Given the description of an element on the screen output the (x, y) to click on. 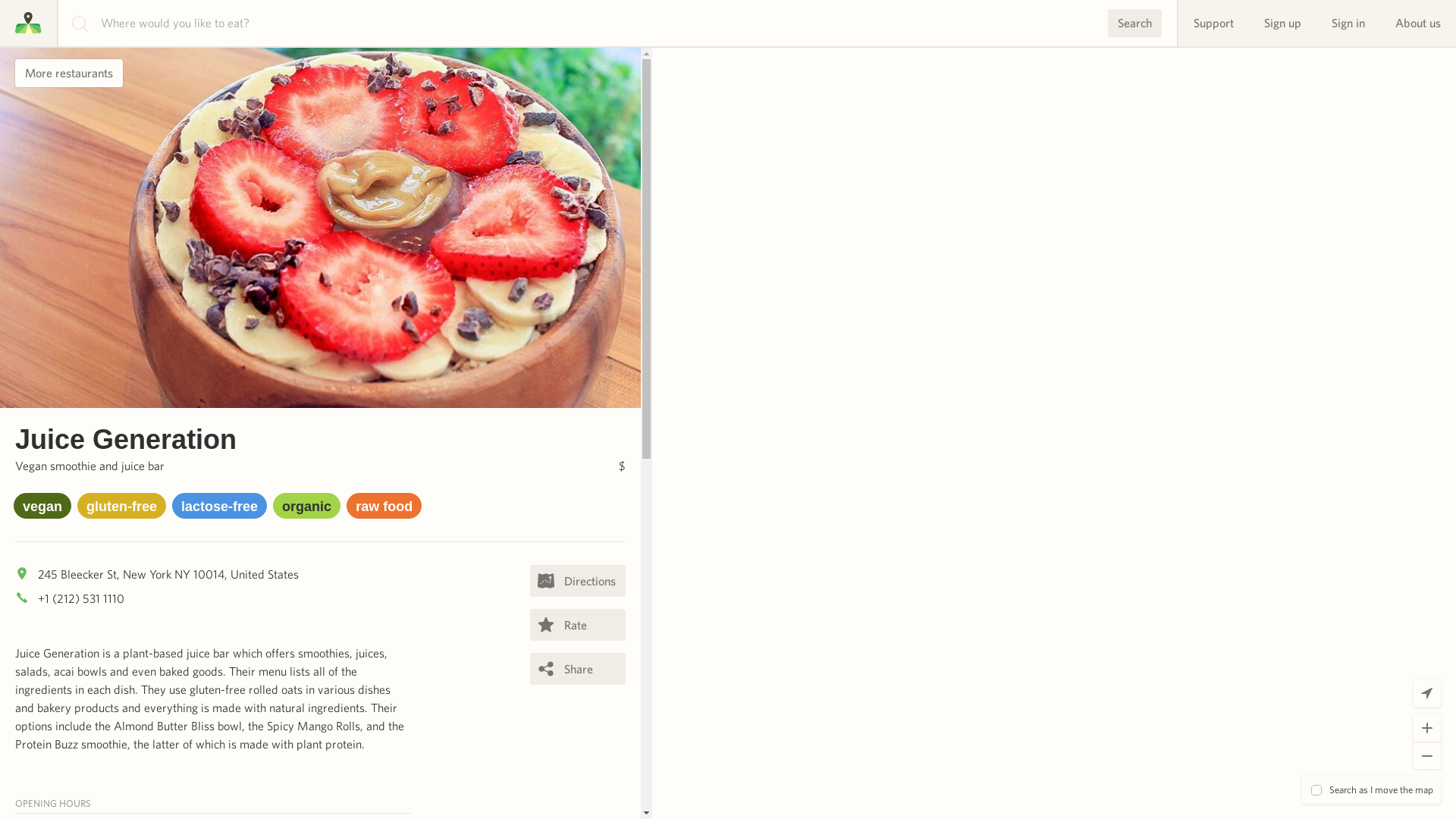
Address (21, 572)
Search (1134, 22)
Share (577, 668)
Support (1213, 22)
Sign up (1282, 22)
Directions (577, 581)
Phone (21, 597)
Rate (577, 624)
Back to home (28, 22)
245 Bleecker St, New York NY 10014, United States (167, 573)
Zoom in (1427, 728)
Center map at my current location (1427, 692)
Zoom out (1427, 755)
Sign in (1348, 22)
More restaurants (68, 72)
